Given the description of an element on the screen output the (x, y) to click on. 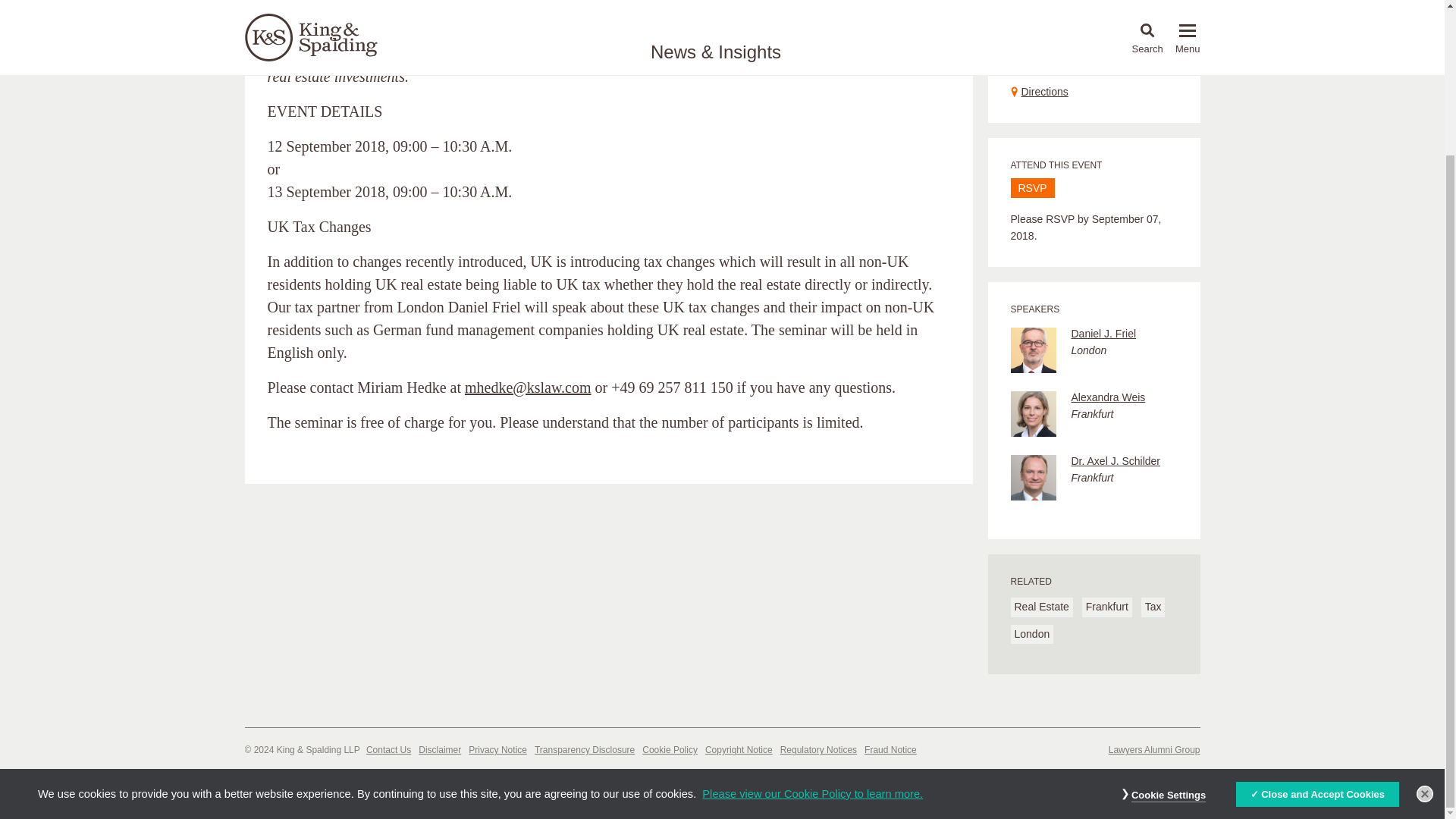
Cookie Settings (1168, 614)
Close (1424, 612)
Cookie Settings (1168, 614)
Please view our Cookie Policy to learn more. (812, 612)
Close and Accept Cookies (1317, 613)
Close and Accept Cookies (1317, 613)
